Given the description of an element on the screen output the (x, y) to click on. 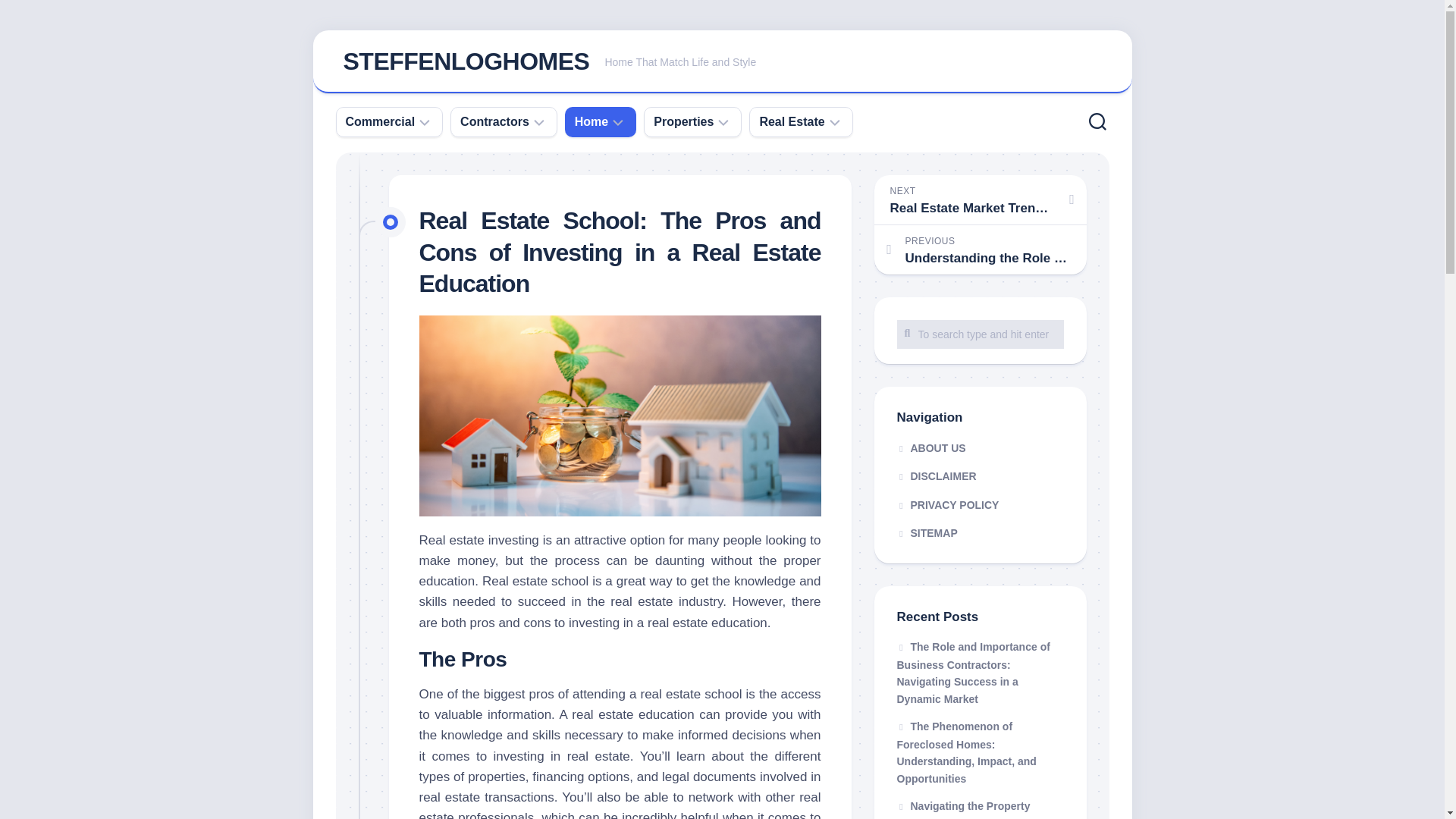
Properties (683, 121)
To search type and hit enter (979, 334)
Contractors (494, 121)
Commercial (380, 121)
Home (591, 121)
To search type and hit enter (979, 334)
Real Estate (791, 121)
STEFFENLOGHOMES (722, 62)
